Given the description of an element on the screen output the (x, y) to click on. 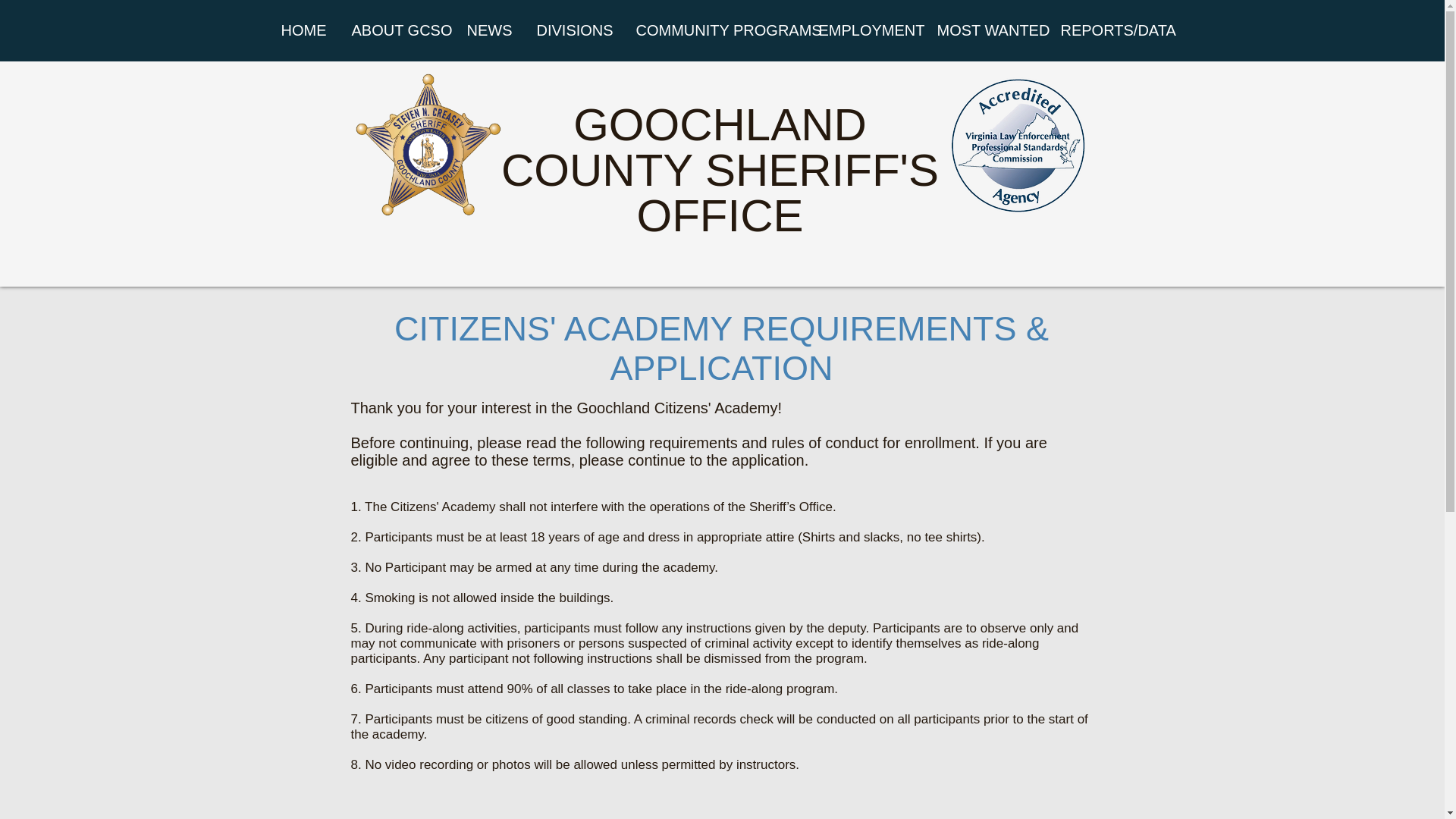
HOME (302, 29)
MOST WANTED (986, 29)
COMMUNITY PROGRAMS (716, 29)
DIVISIONS (574, 29)
EMPLOYMENT (865, 29)
ABOUT GCSO (395, 29)
NEWS (488, 29)
